Given the description of an element on the screen output the (x, y) to click on. 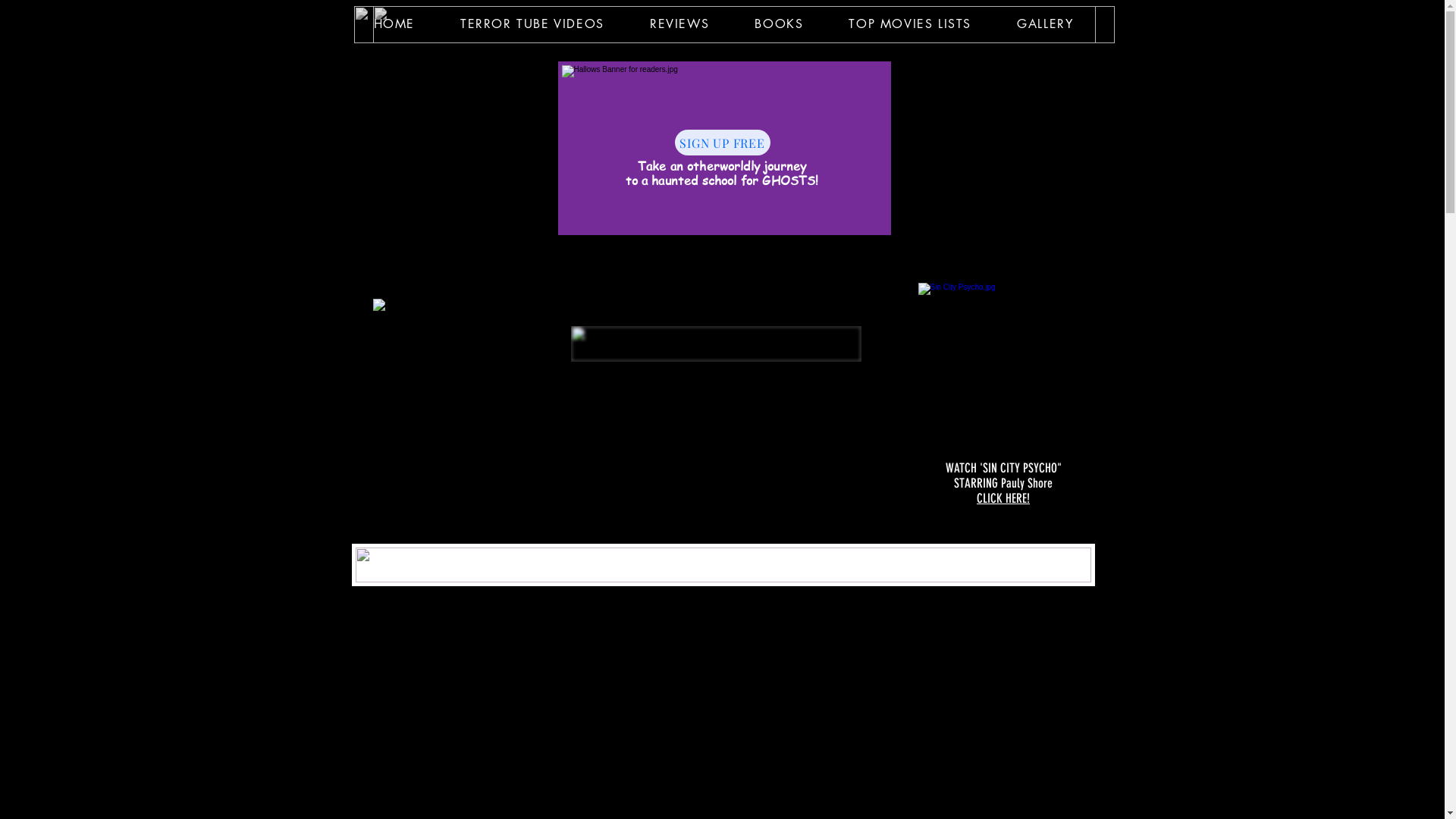
REVIEWS Element type: text (679, 23)
SIGN UP FREE Element type: text (722, 142)
TERROR TUBE VIDEOS Element type: text (532, 23)
CLICK HERE! Element type: text (1002, 497)
HOME Element type: text (393, 23)
TOP MOVIES LISTS Element type: text (909, 23)
BOOKS Element type: text (778, 23)
GALLERY Element type: text (1044, 23)
